Given the description of an element on the screen output the (x, y) to click on. 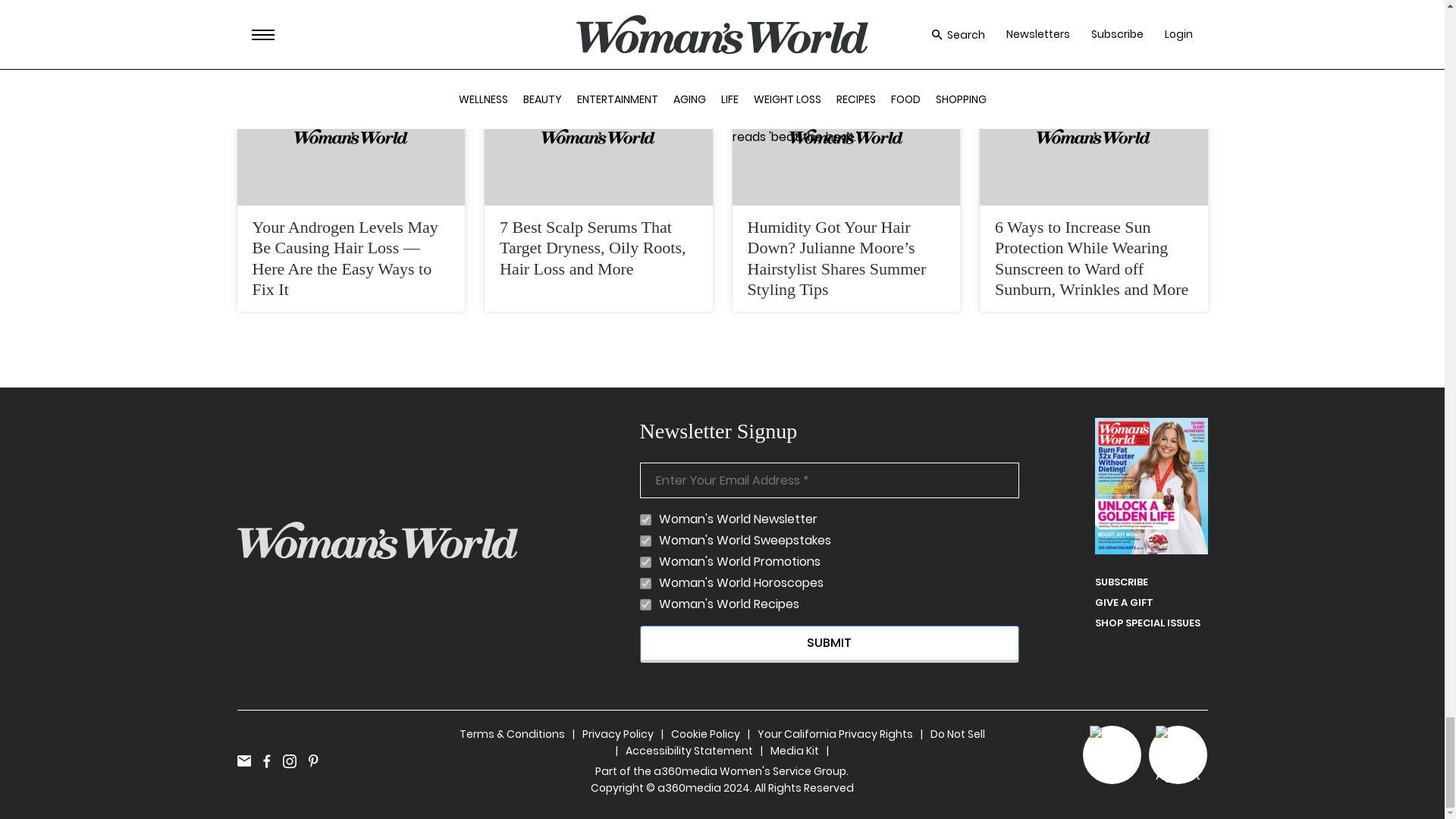
1 (645, 562)
1 (645, 519)
1 (645, 541)
1 (645, 604)
1 (645, 583)
